Given the description of an element on the screen output the (x, y) to click on. 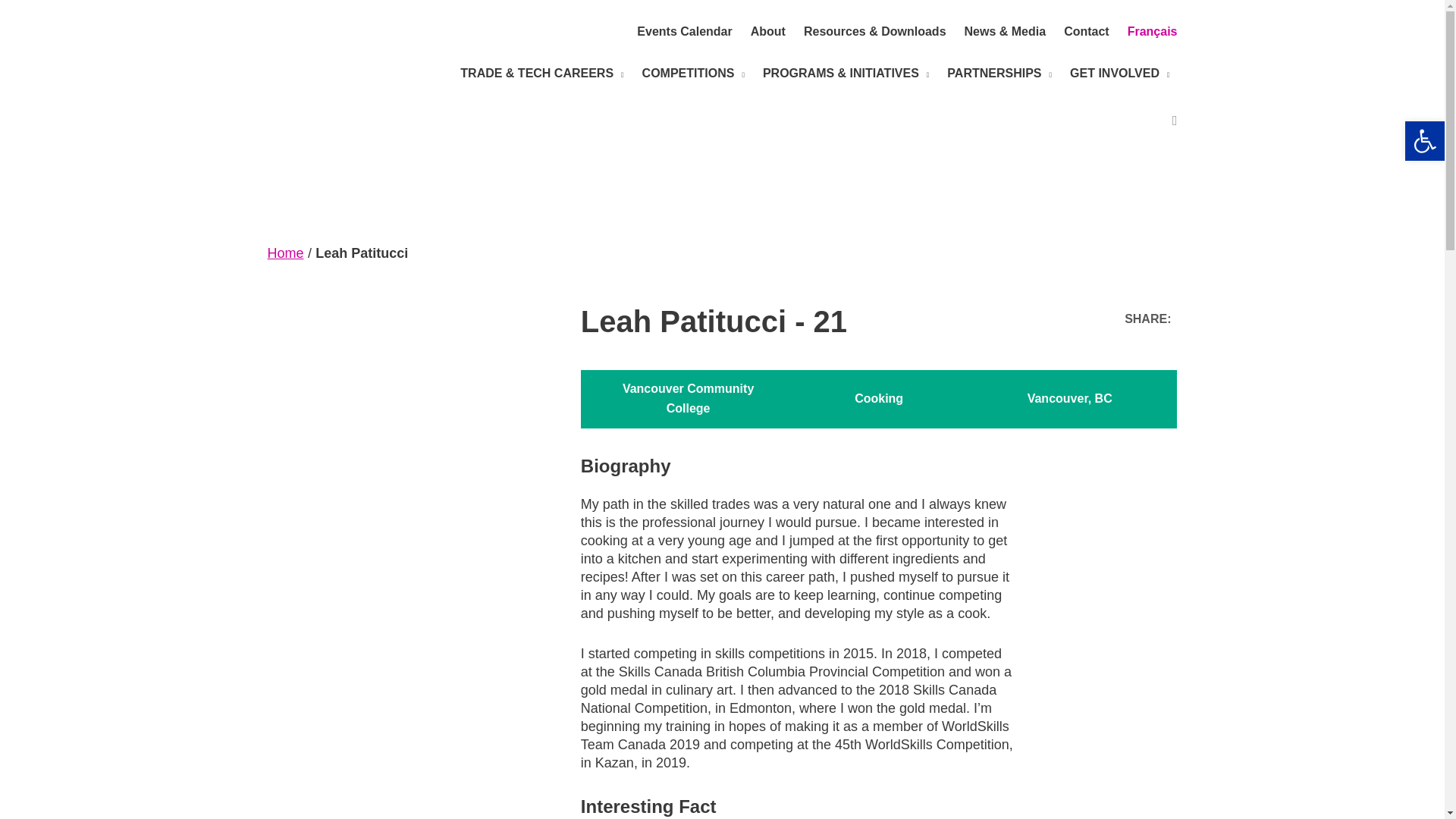
Events Calendar (684, 31)
About (768, 31)
Contact (1086, 31)
Accessibility Tools (1424, 140)
